Given the description of an element on the screen output the (x, y) to click on. 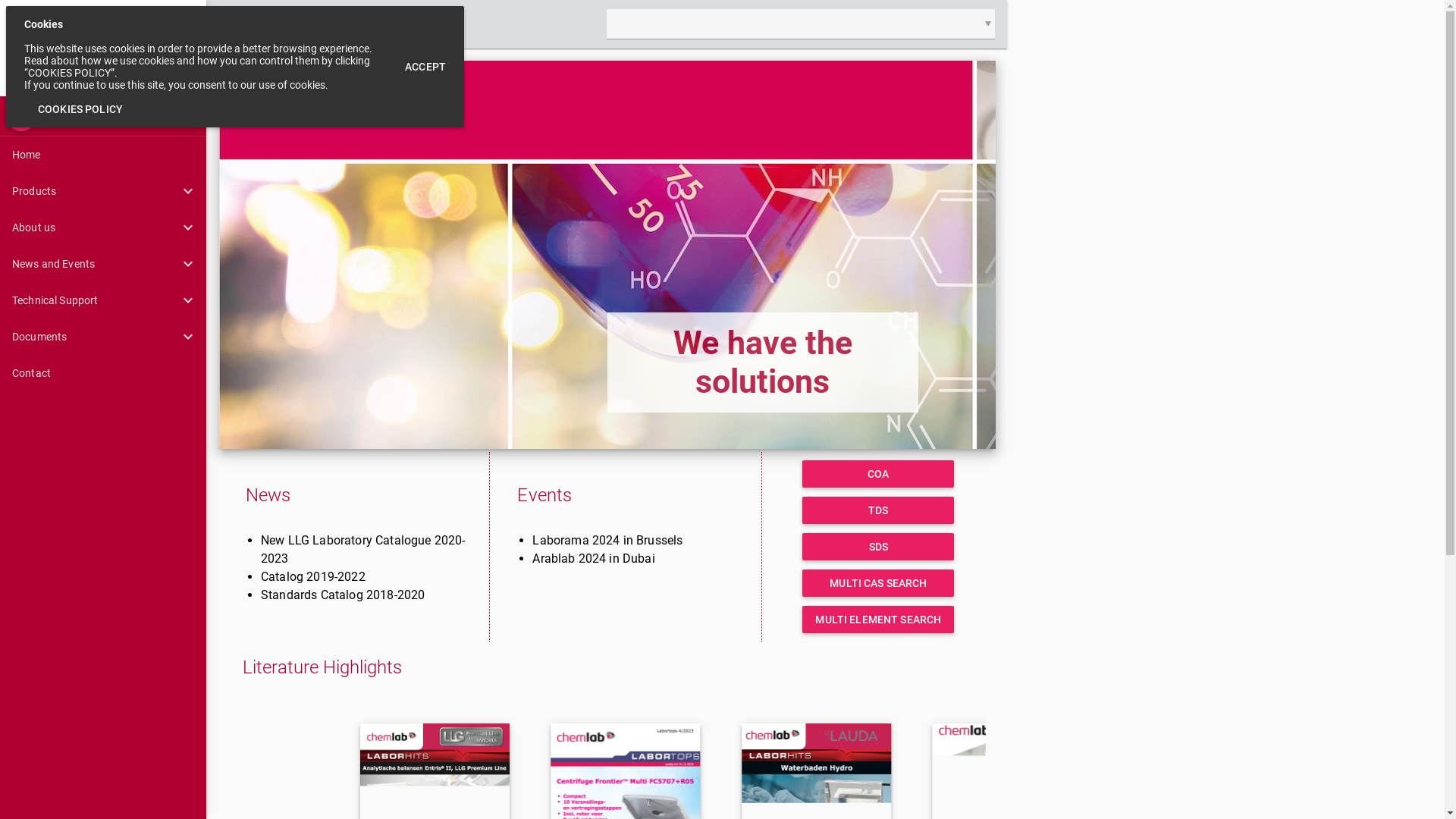
TDS Element type: text (877, 510)
COOKIES POLICY Element type: text (80, 108)
Chem-Lab Analytical Element type: hover (103, 48)
SDS Element type: text (877, 546)
LOGIN Element type: text (305, 24)
COA Element type: text (877, 473)
MULTI ELEMENT SEARCH Element type: text (877, 619)
MULTI CAS SEARCH Element type: text (877, 582)
ACCEPT Element type: text (425, 66)
EN Element type: text (21, 115)
REQUEST LOGIN Element type: text (396, 24)
shopping_cart Element type: text (237, 24)
